Given the description of an element on the screen output the (x, y) to click on. 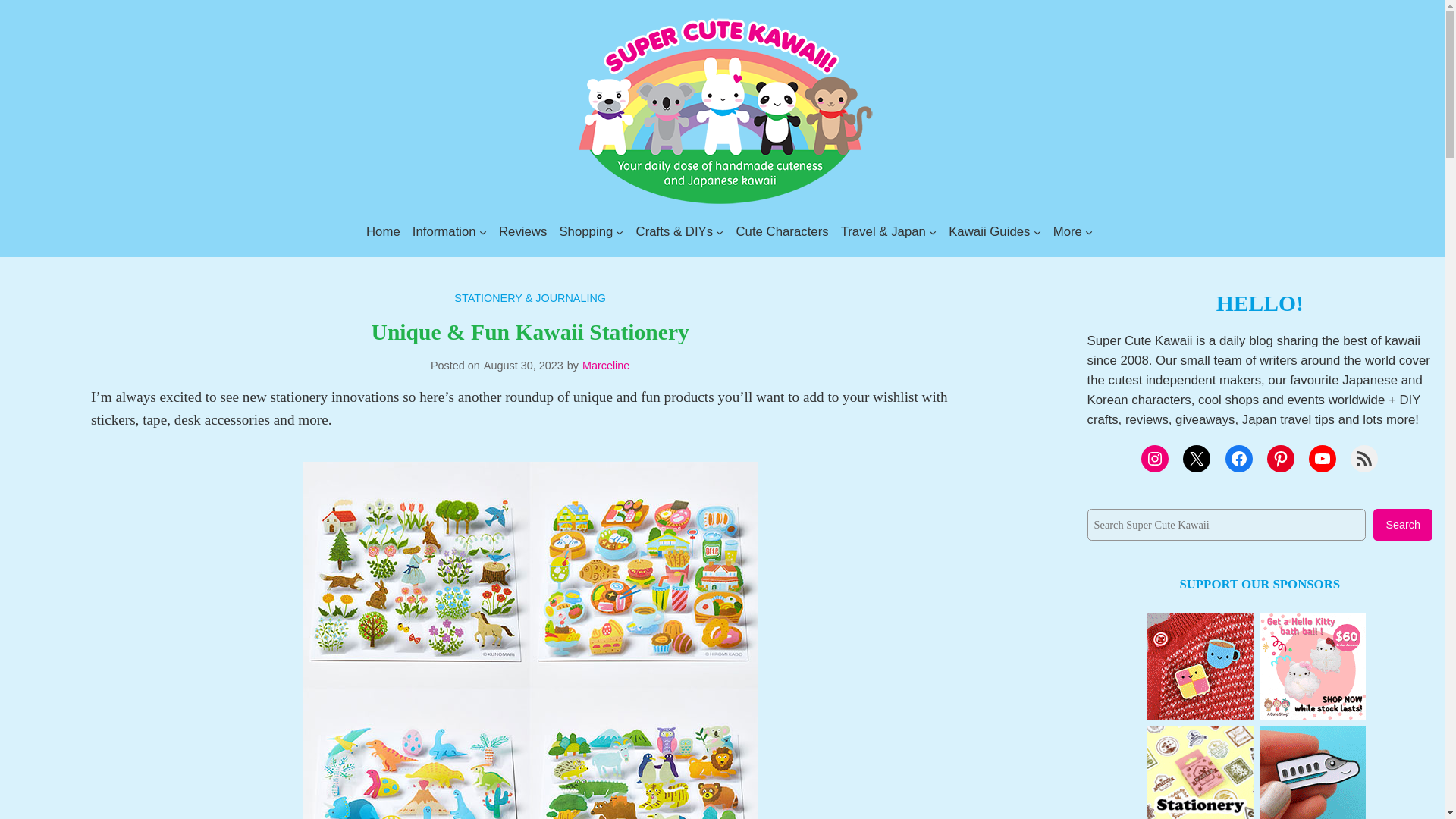
Shopping (585, 231)
Home (383, 231)
Information (444, 231)
Reviews (523, 231)
